Given the description of an element on the screen output the (x, y) to click on. 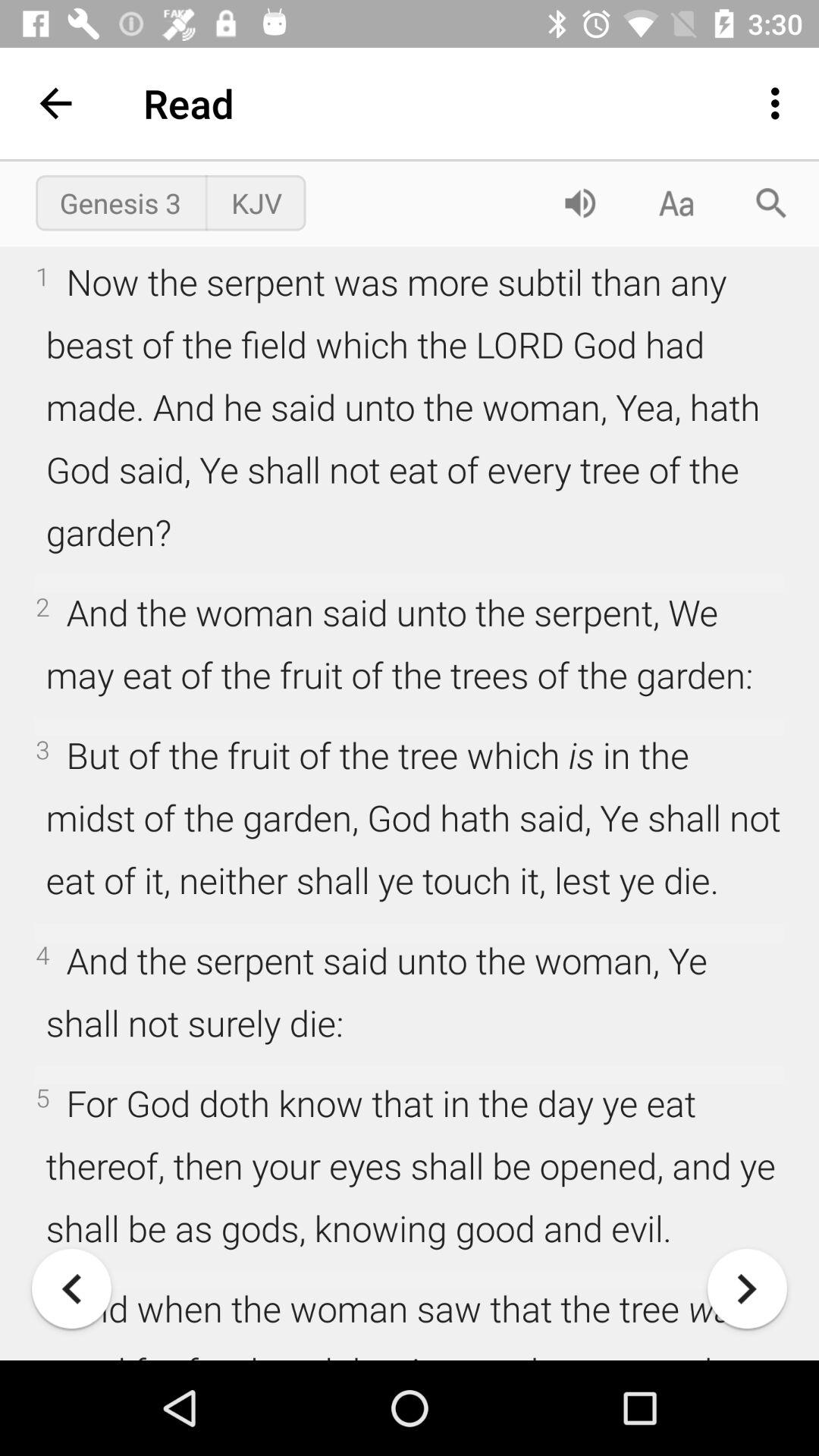
jump to the genesis 3 icon (120, 202)
